Given the description of an element on the screen output the (x, y) to click on. 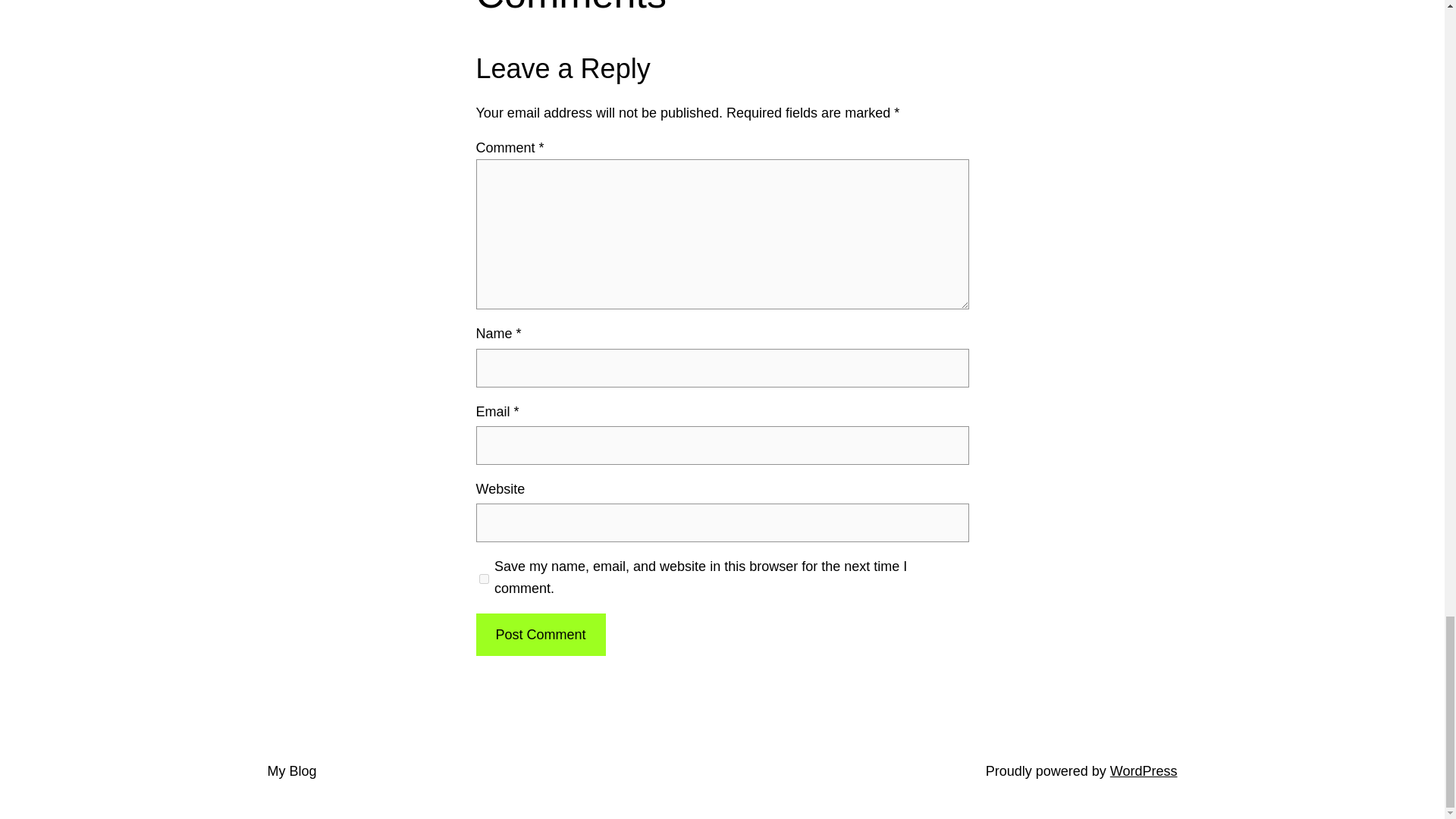
My Blog (290, 770)
Post Comment (540, 634)
Post Comment (540, 634)
WordPress (1143, 770)
